Given the description of an element on the screen output the (x, y) to click on. 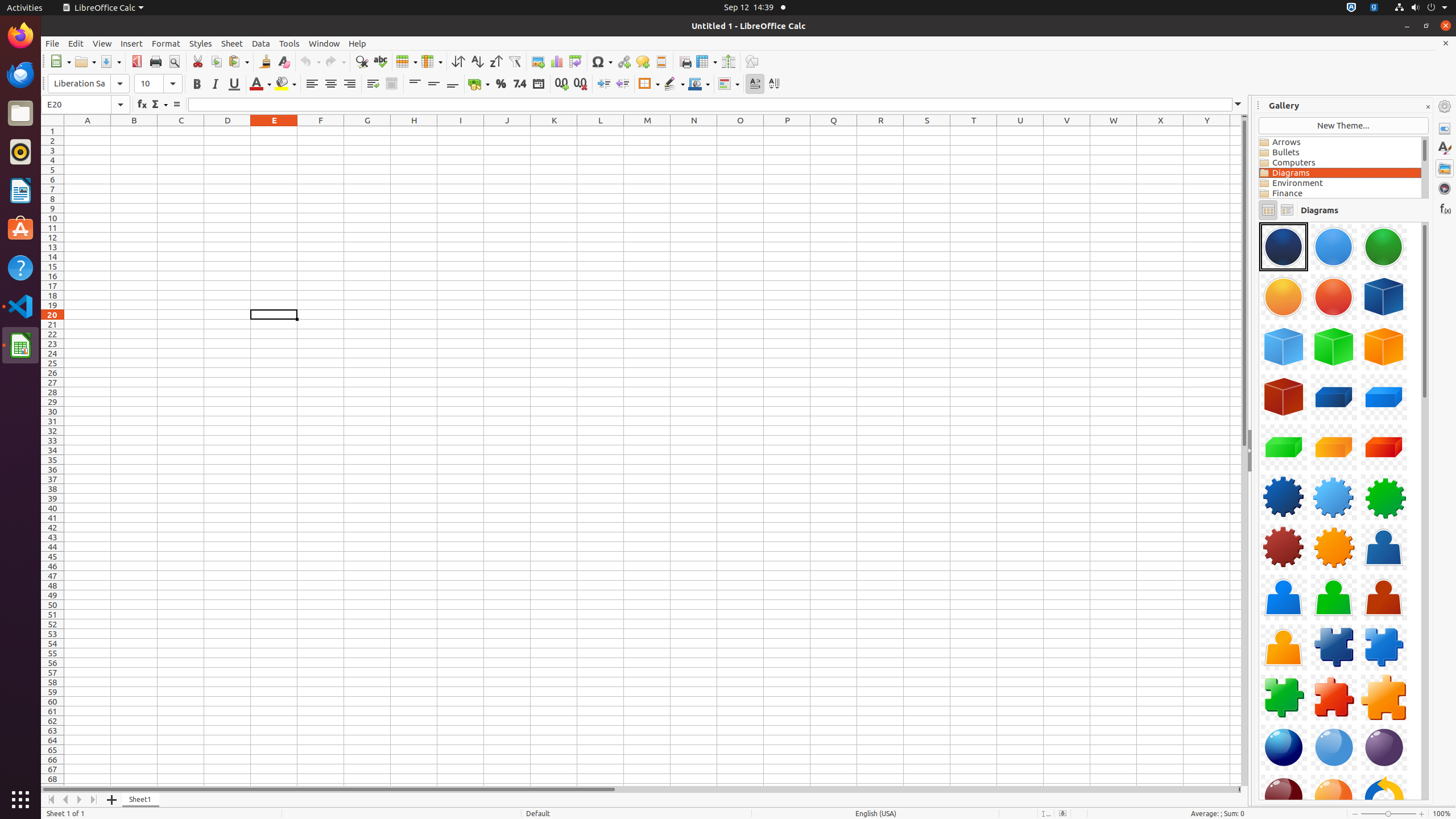
W1 Element type: table-cell (1113, 130)
Visual Studio Code Element type: push-button (20, 306)
Format Element type: menu (165, 43)
P1 Element type: table-cell (786, 130)
Align Left Element type: push-button (311, 83)
